Given the description of an element on the screen output the (x, y) to click on. 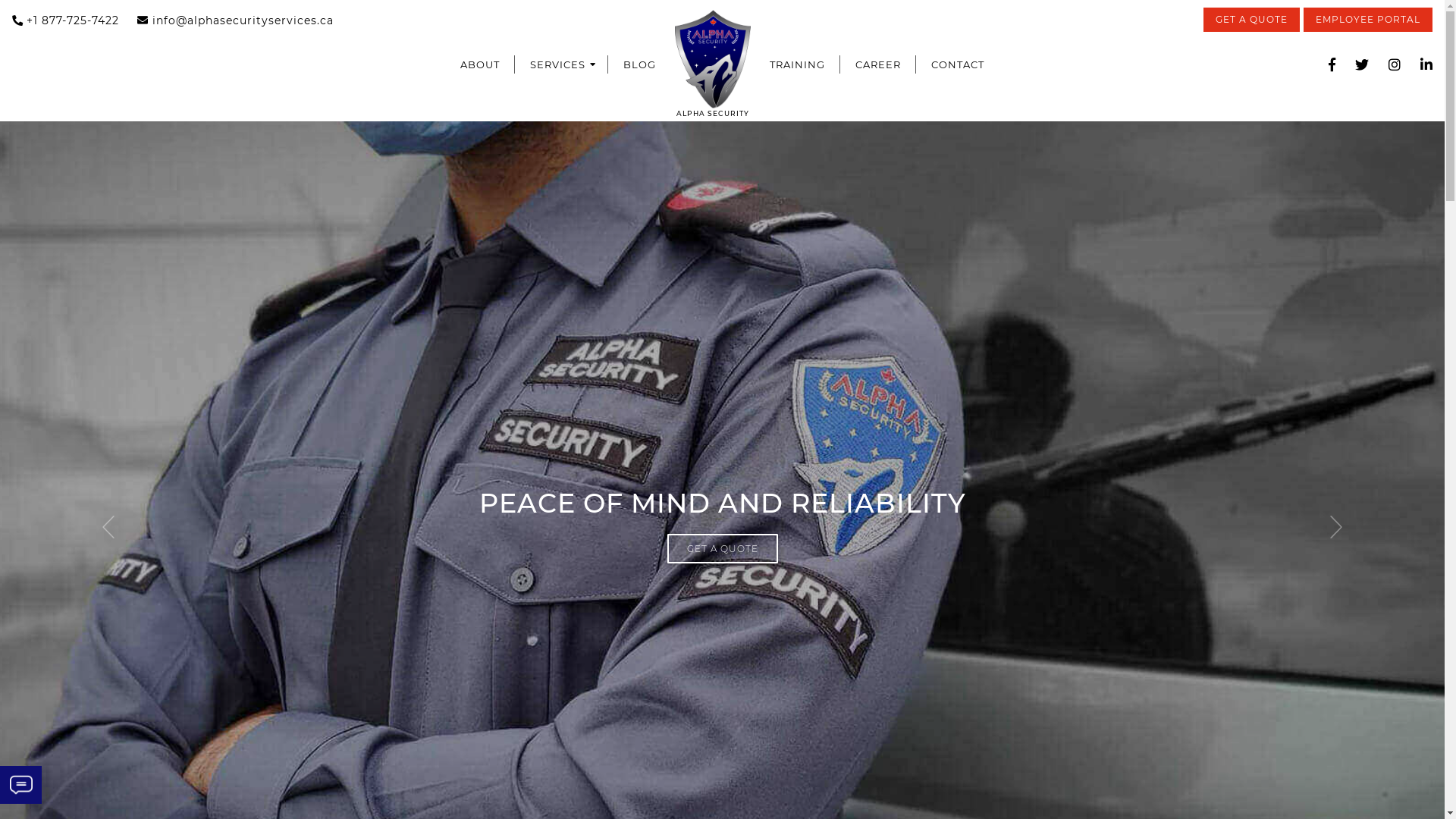
ALPHA SECURITY Element type: text (712, 64)
info@alphasecurityservices.ca Element type: text (235, 20)
TRAINING Element type: text (797, 64)
BLOG Element type: text (639, 64)
GET A QUOTE Element type: text (1251, 19)
CONTACT Element type: text (957, 64)
CAREER Element type: text (878, 64)
GET A QUOTE Element type: text (722, 549)
SERVICES Element type: text (561, 64)
+1 877-725-7422 Element type: text (65, 20)
EMPLOYEE PORTAL Element type: text (1367, 19)
ABOUT Element type: text (479, 64)
